Given the description of an element on the screen output the (x, y) to click on. 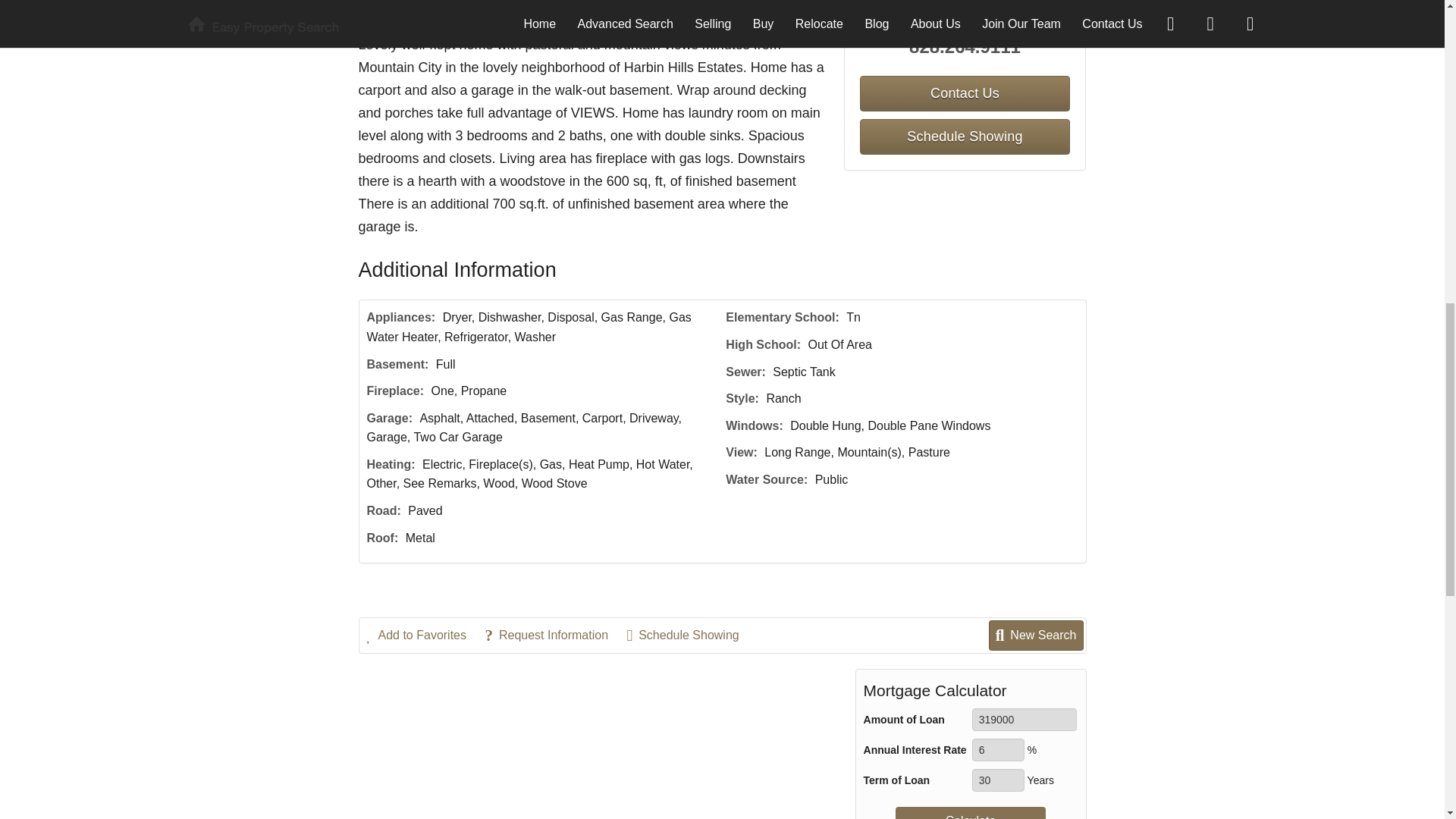
30 (998, 780)
319000 (1024, 719)
6 (998, 749)
